Given the description of an element on the screen output the (x, y) to click on. 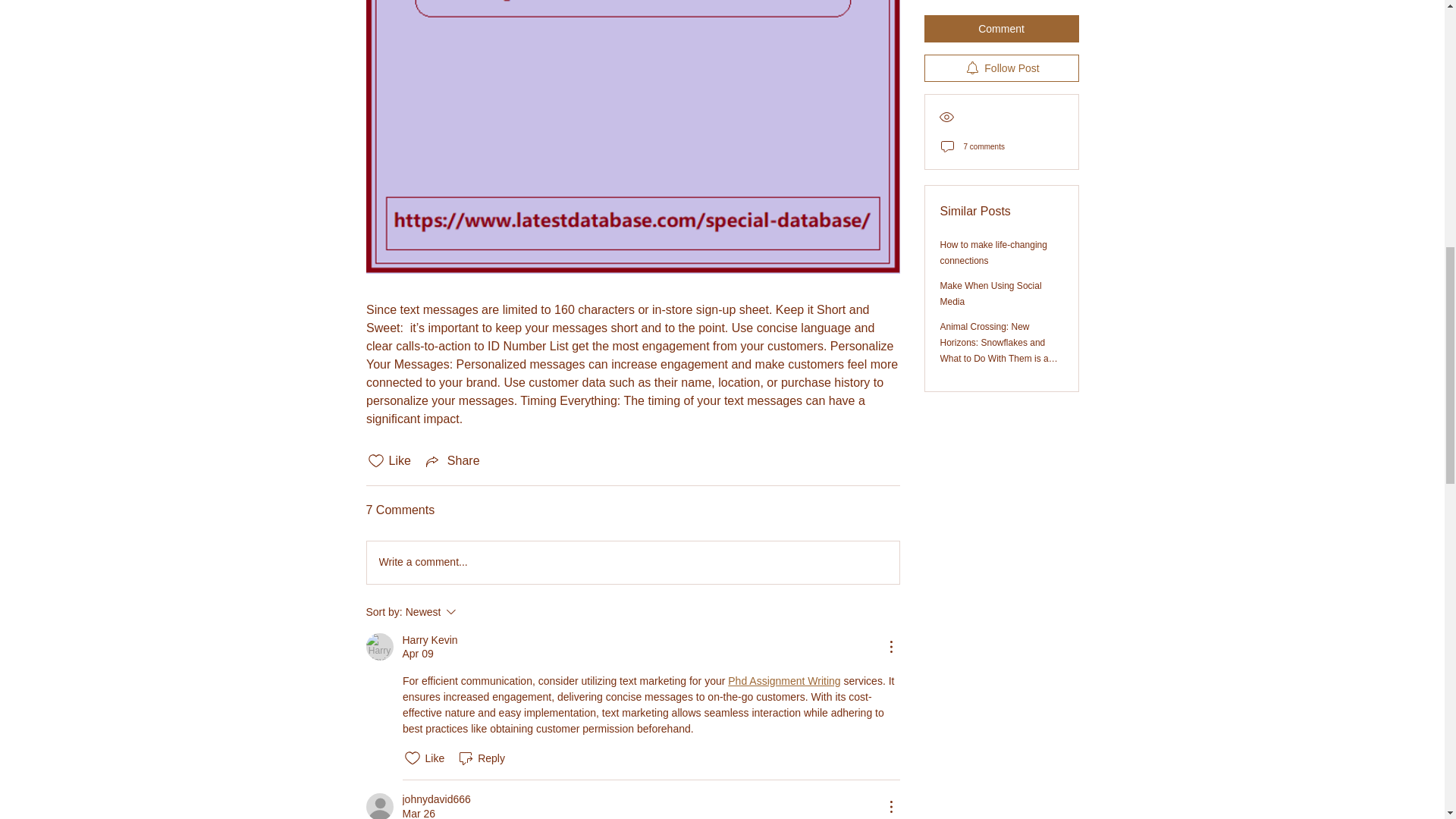
Write a comment... (471, 611)
Harry Kevin (632, 562)
johnydavid666 (379, 646)
Harry Kevin (435, 799)
Share (429, 640)
Reply (451, 461)
Phd Assignment Writing (481, 758)
